Given the description of an element on the screen output the (x, y) to click on. 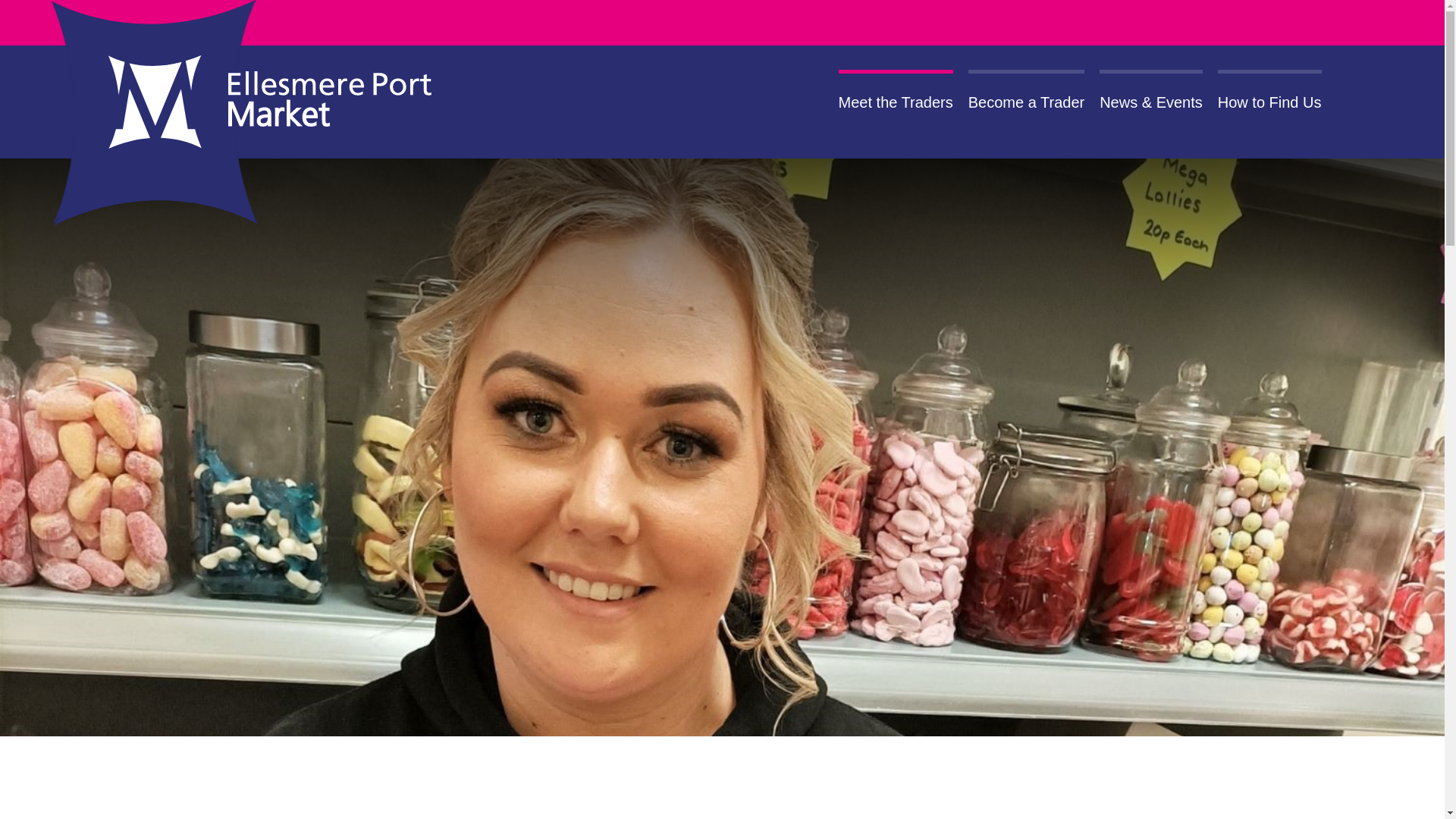
Become a Trader (1026, 102)
Meet the Traders (895, 102)
Meet the Traders (895, 102)
How to Find Us (1269, 102)
Become a Trader (1026, 102)
How to Find Us (1269, 102)
